Given the description of an element on the screen output the (x, y) to click on. 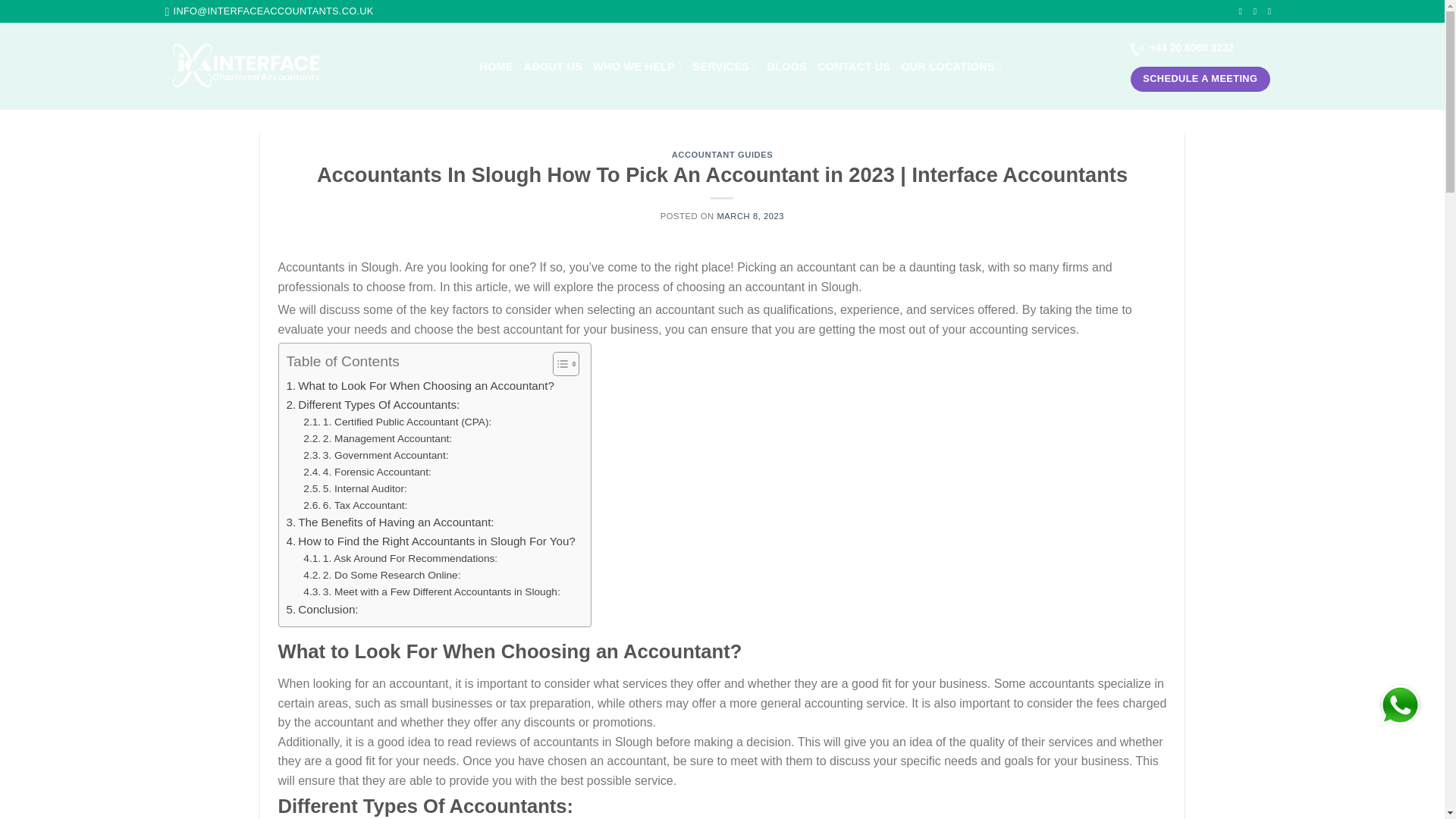
2. Management Accountant: (376, 438)
How to Find the Right Accountants in Slough For You? (430, 541)
Conclusion: (322, 609)
3. Meet with a Few Different Accountants in Slough: (430, 591)
BLOGS (787, 66)
SERVICES (724, 66)
OUR LOCATIONS (951, 66)
4. Forensic Accountant: (366, 472)
HOME (495, 66)
1. Ask Around For Recommendations: (399, 558)
